Given the description of an element on the screen output the (x, y) to click on. 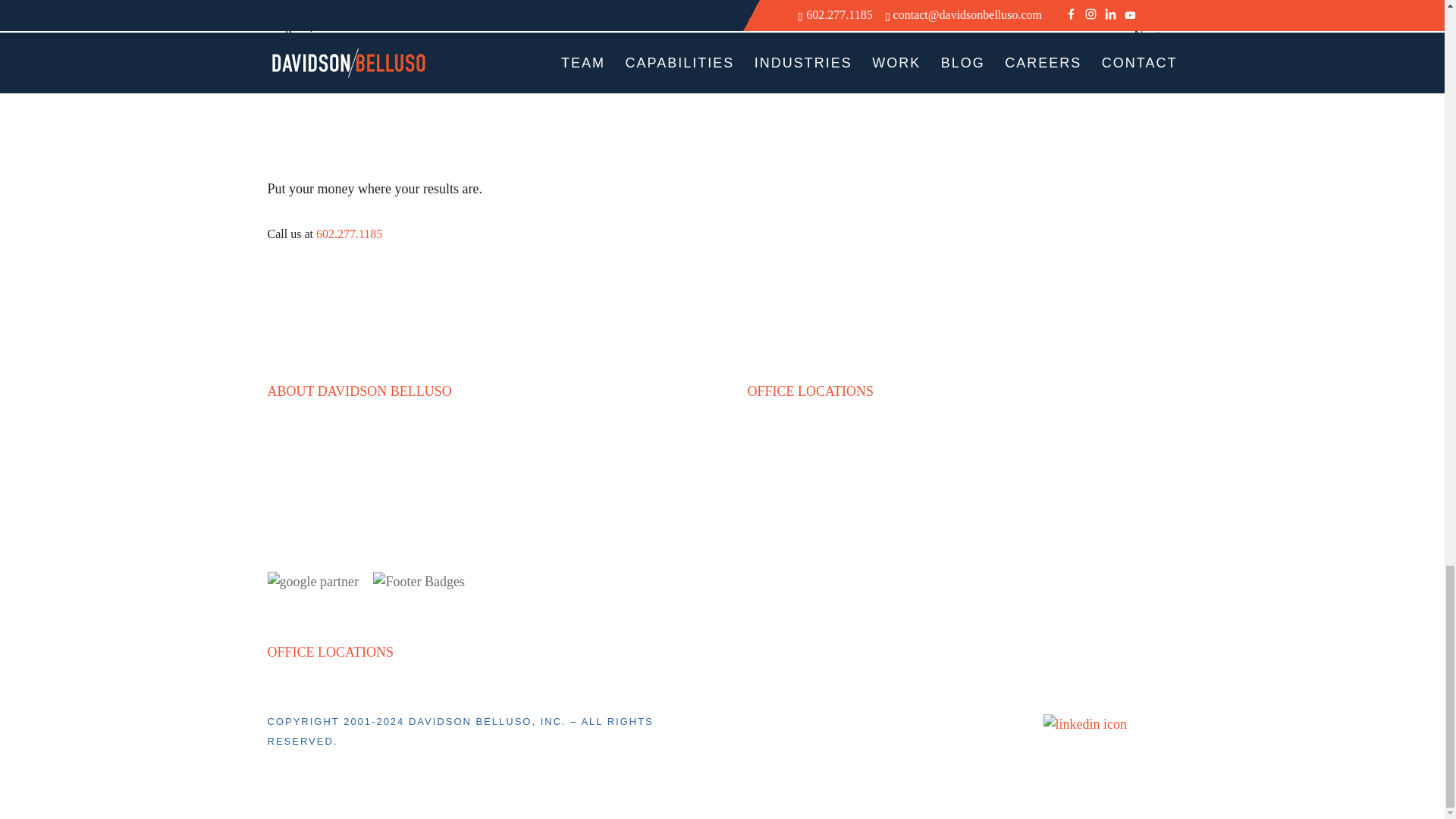
602.277.1185 (348, 233)
